Given the description of an element on the screen output the (x, y) to click on. 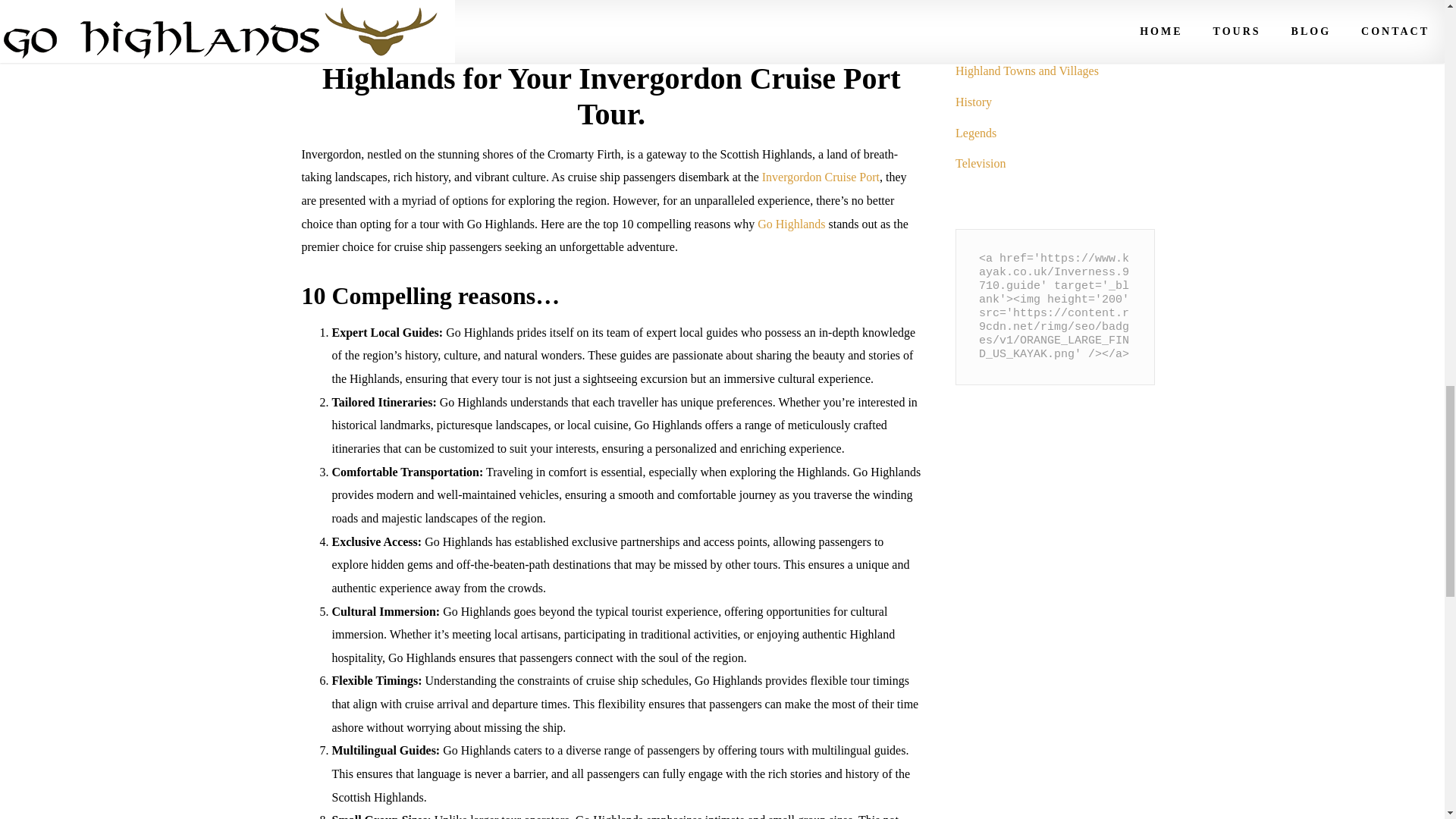
Highland Towns and Villages (1027, 70)
Invergordon Cruise Port (820, 176)
Legends (975, 132)
History (973, 101)
Television (980, 163)
Go Highlands (791, 223)
General (974, 40)
Fantasy (973, 9)
